Given the description of an element on the screen output the (x, y) to click on. 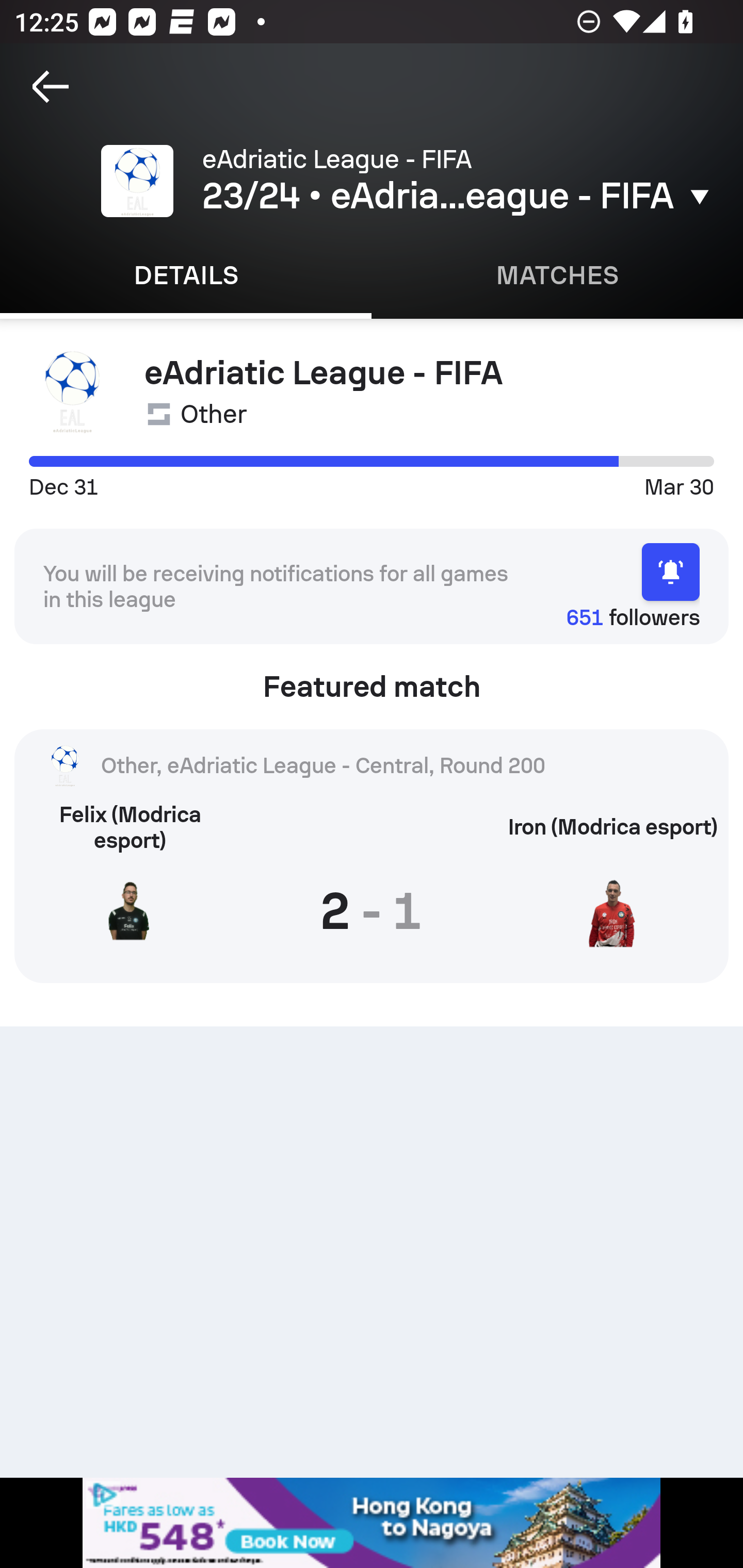
Navigate up (50, 86)
23/24 • eAdriatic League - FIFA (458, 195)
Matches MATCHES (557, 275)
wi46309w_320x50 (371, 1522)
